Given the description of an element on the screen output the (x, y) to click on. 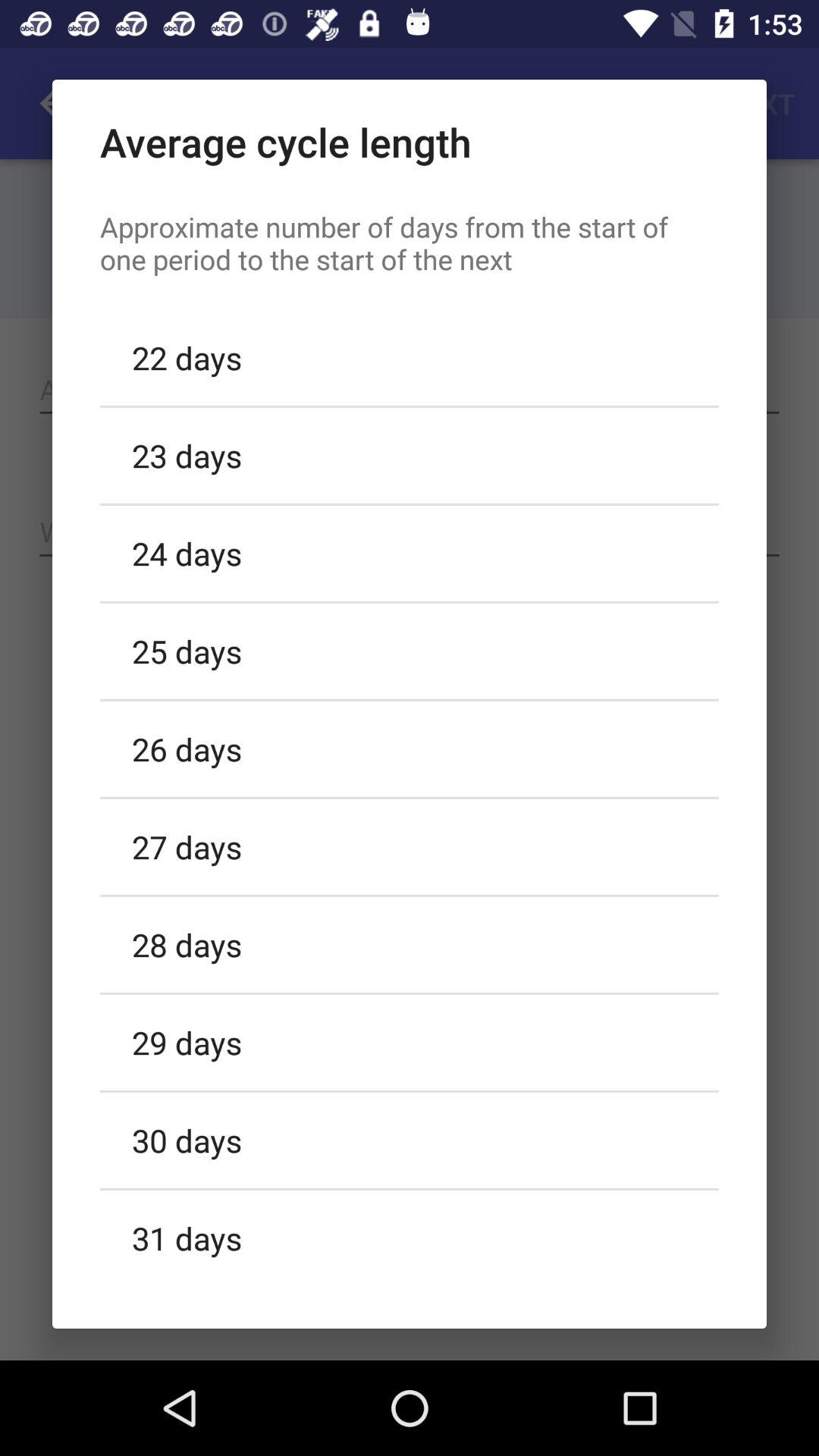
scroll to 30 days icon (409, 1140)
